Given the description of an element on the screen output the (x, y) to click on. 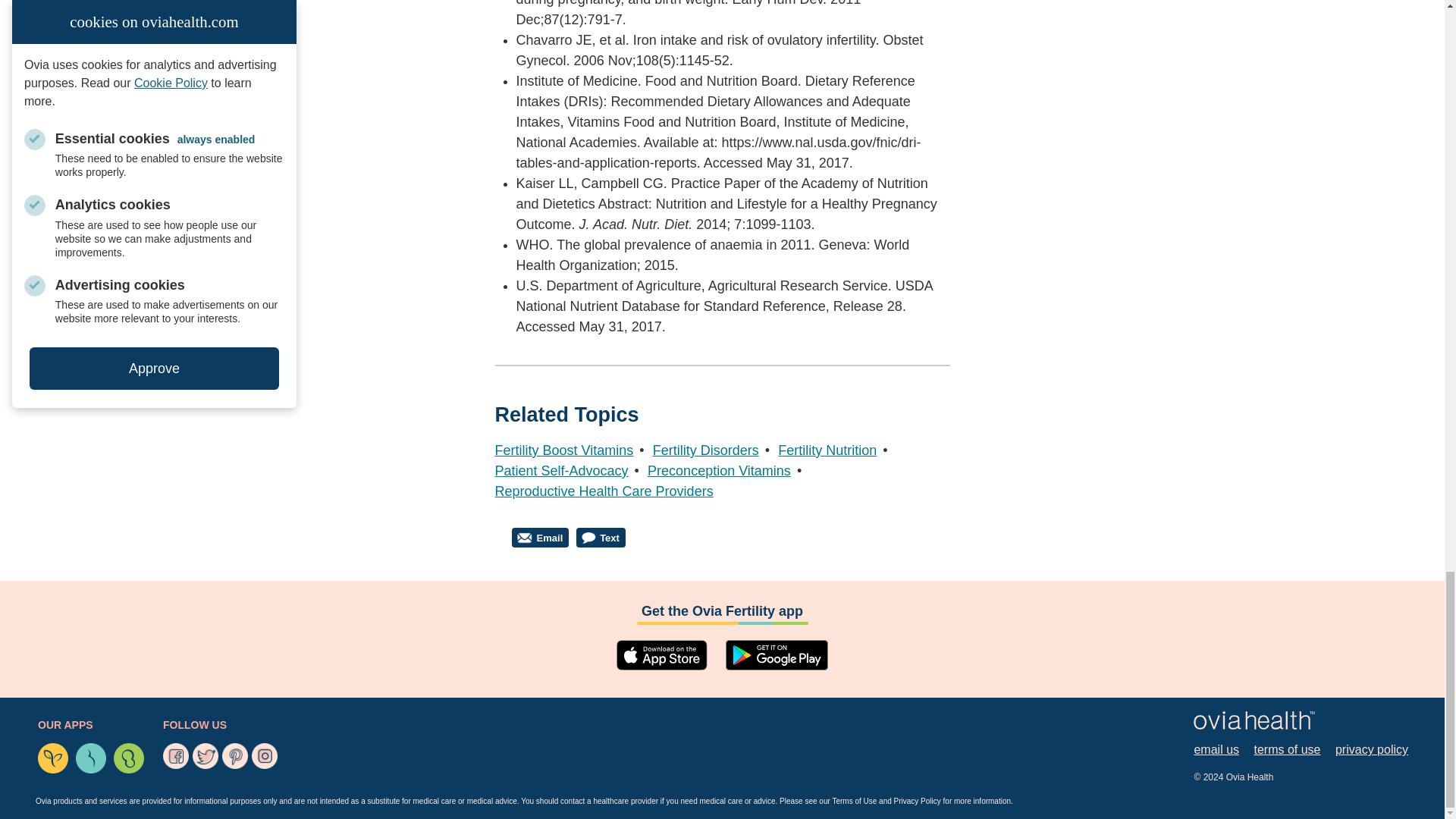
Patient Self-Advocacy (561, 470)
privacy policy (1371, 750)
Text (601, 537)
Fertility Disorders (705, 450)
Fertility Nutrition (826, 450)
email us (1216, 750)
Preconception Vitamins (718, 470)
Fertility Boost Vitamins (564, 450)
Reproductive Health Care Providers (604, 491)
Email (540, 537)
terms of use (1286, 750)
